Given the description of an element on the screen output the (x, y) to click on. 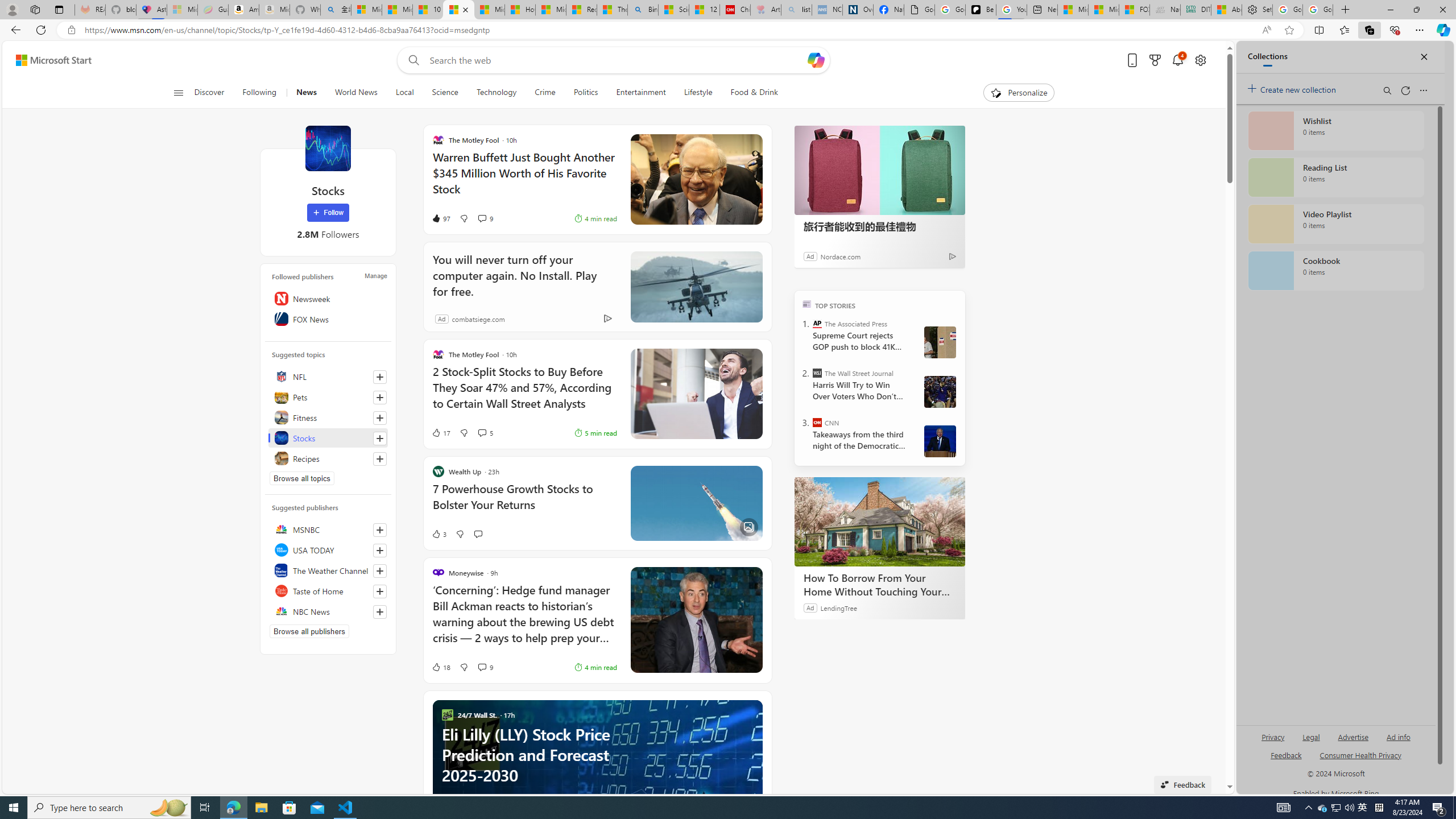
How To Borrow From Your Home Without Touching Your Mortgage (879, 521)
Notifications (1177, 60)
Follow this source (379, 612)
World News (355, 92)
Manage (375, 275)
Politics (585, 92)
